Given the description of an element on the screen output the (x, y) to click on. 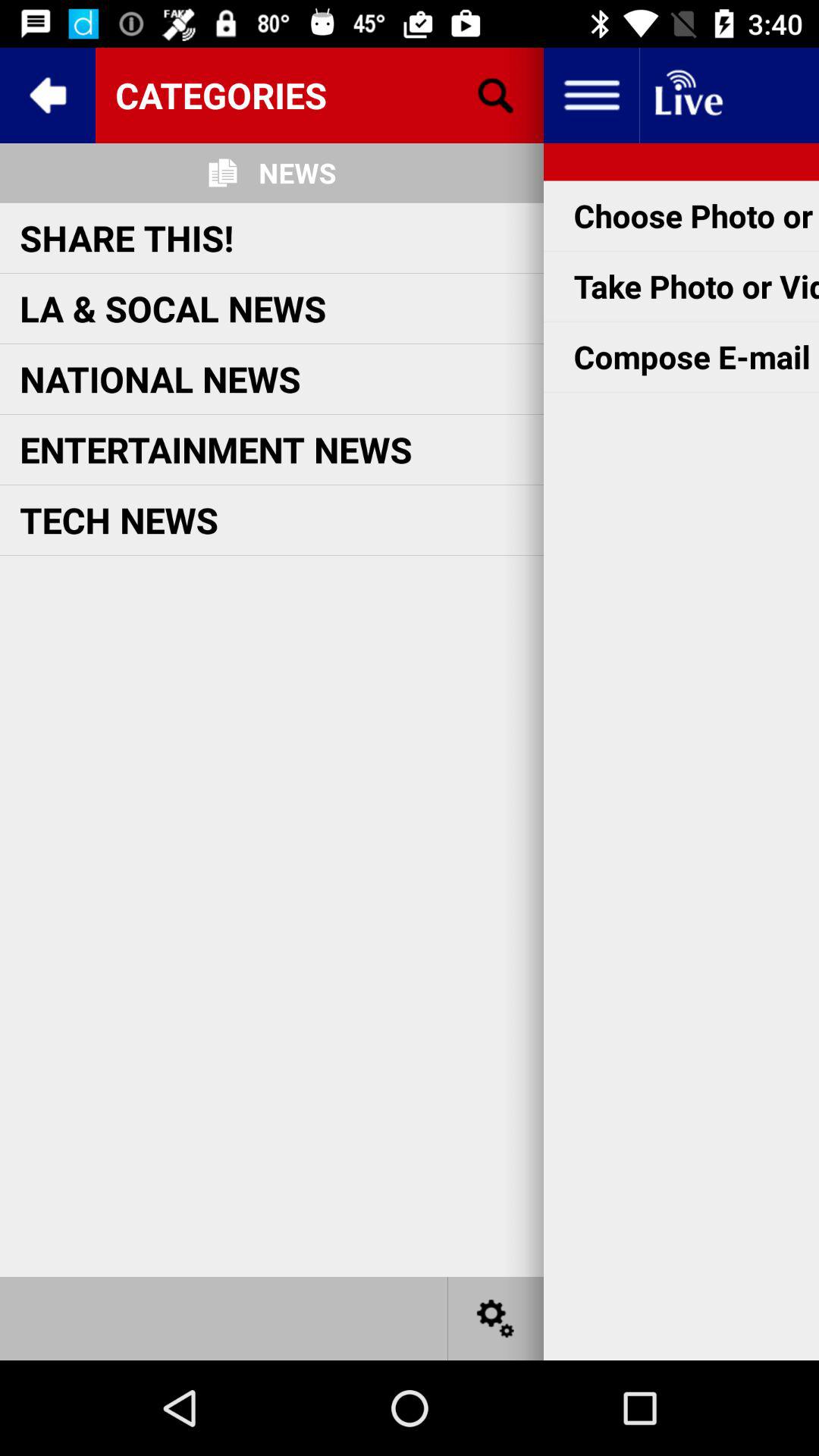
to search (495, 95)
